Given the description of an element on the screen output the (x, y) to click on. 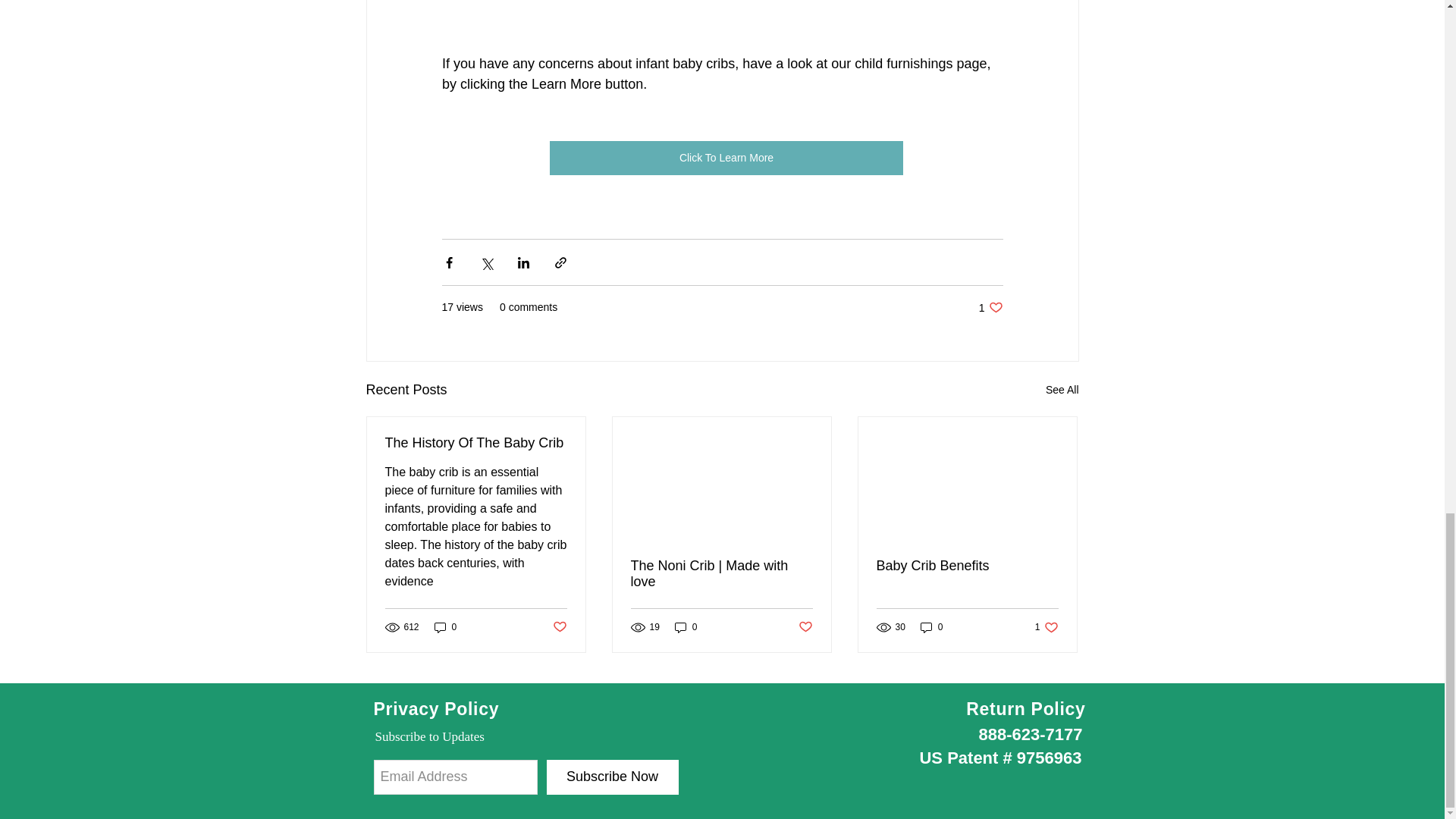
0 (445, 626)
Subscribe Now (612, 777)
0 (931, 626)
0 (685, 626)
See All (1061, 390)
Post not marked as liked (804, 627)
Click To Learn More (725, 157)
The History Of The Baby Crib (476, 442)
Post not marked as liked (558, 627)
Privacy Policy (435, 709)
Return Policy (990, 307)
Baby Crib Benefits (1046, 626)
